Given the description of an element on the screen output the (x, y) to click on. 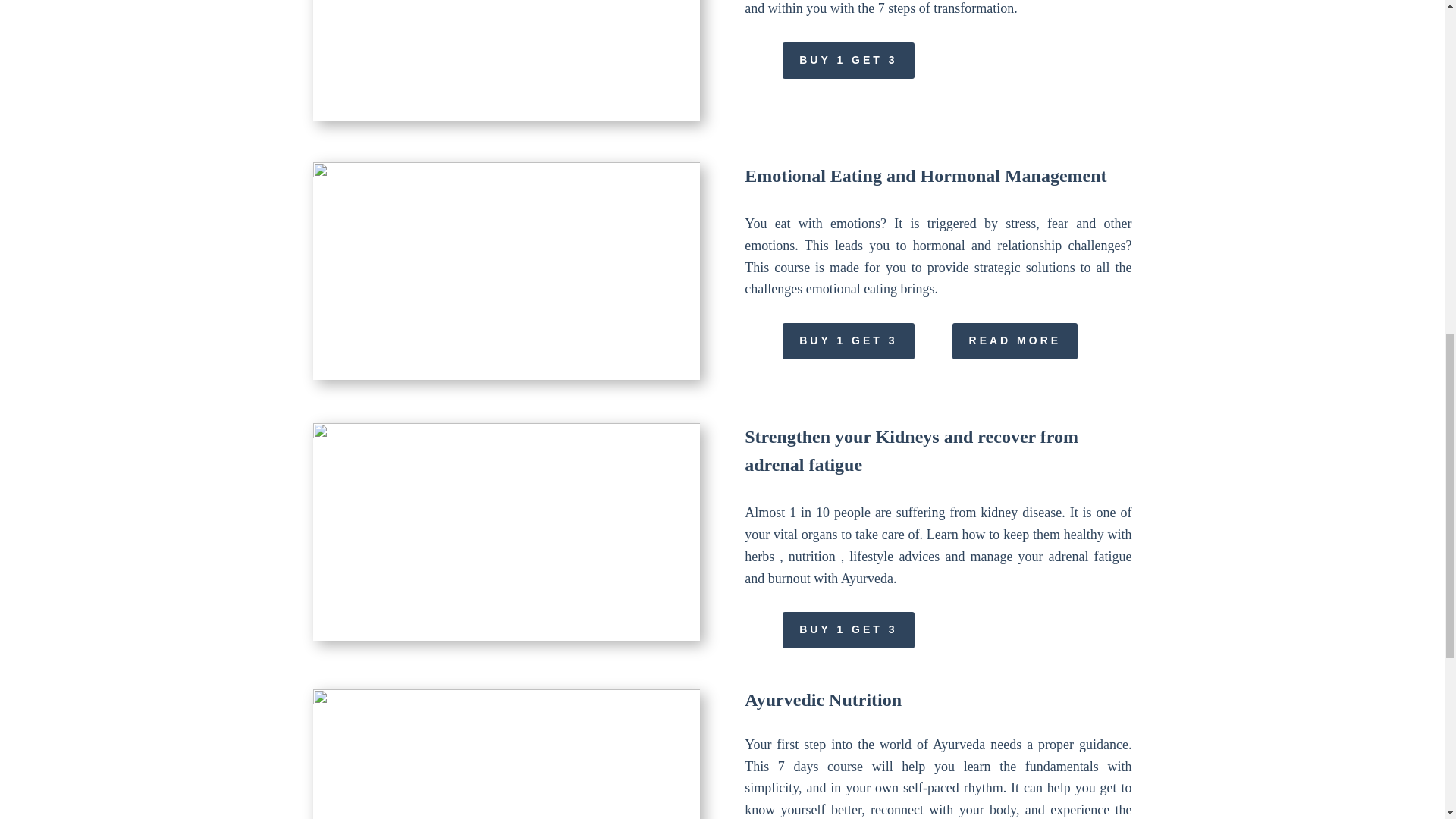
BUY 1 GET 3 (848, 340)
BUY 1 GET 3 (848, 60)
BUY 1 GET 3 (848, 629)
Online Platform Headers (505, 60)
READ MORE (1015, 340)
Online Platform Headers (505, 531)
Online Platform Headers (505, 754)
Online Platform Headers (505, 271)
